Given the description of an element on the screen output the (x, y) to click on. 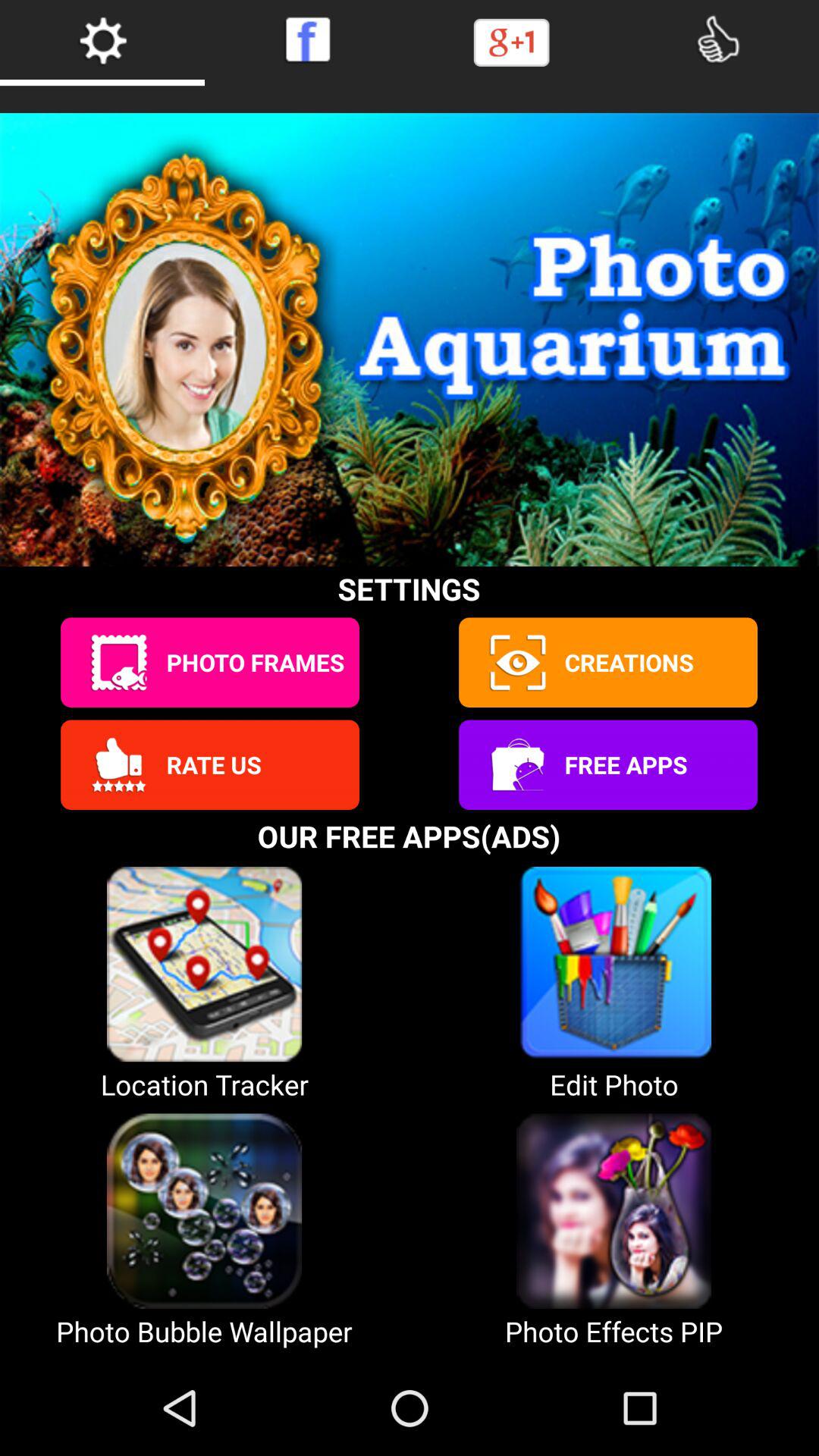
photo frame options (118, 662)
